Given the description of an element on the screen output the (x, y) to click on. 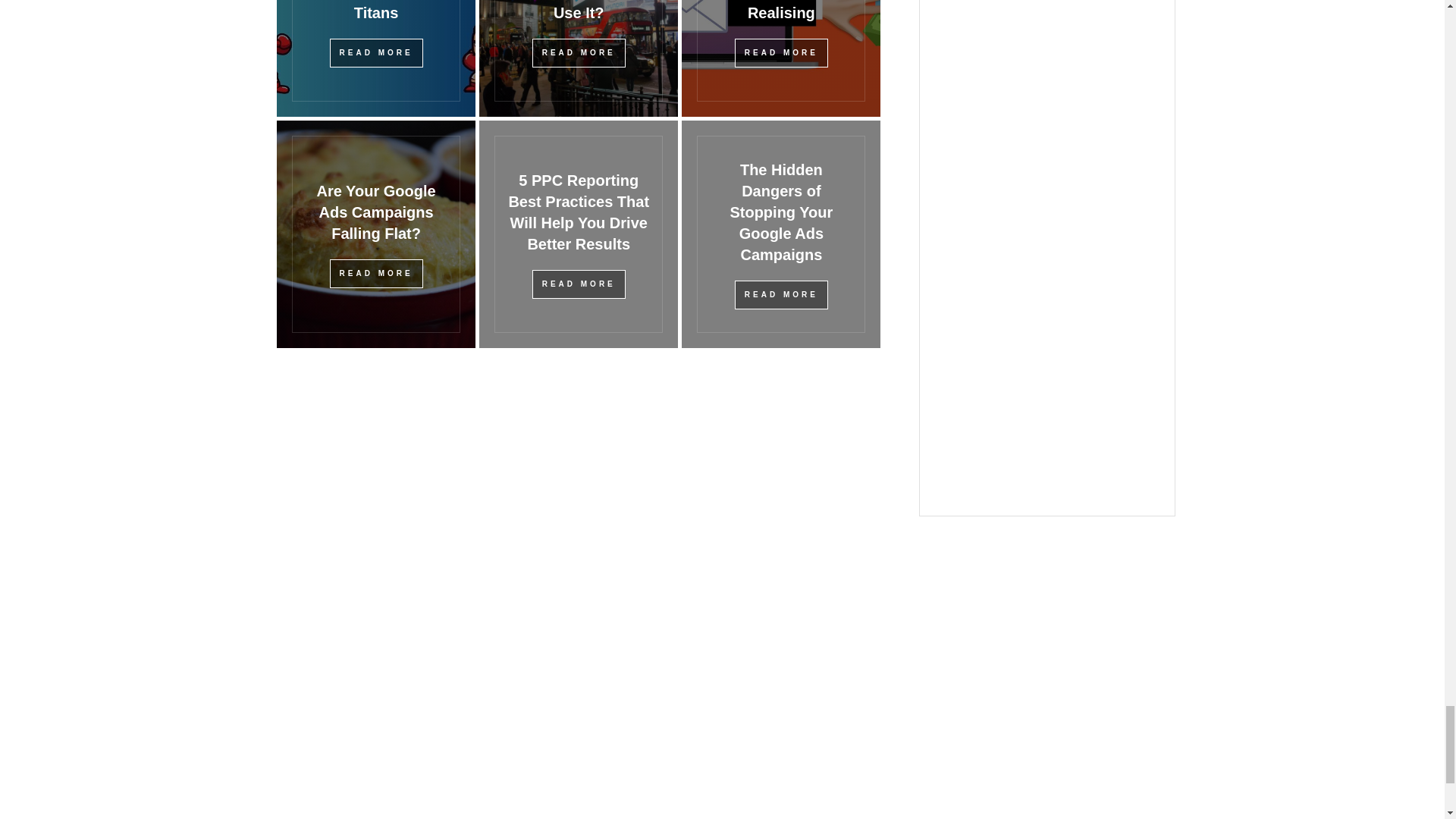
What is the Google Display Network and Should You Use It? (579, 10)
How Google Steals Your Money Without You Realising (781, 10)
Are Your Google Ads Campaigns Falling Flat? (376, 211)
